Given the description of an element on the screen output the (x, y) to click on. 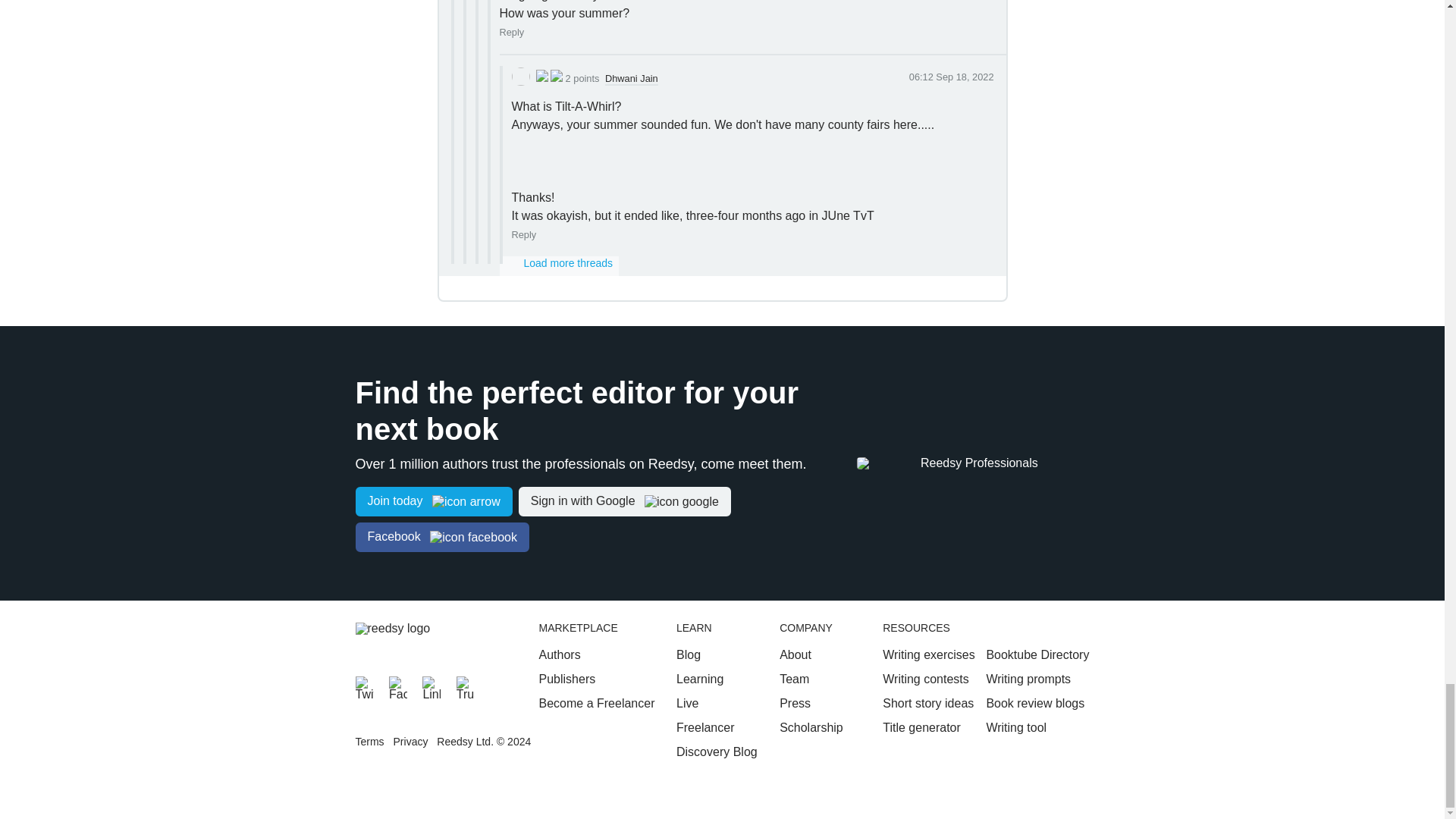
Sign up (433, 501)
Facebook (397, 685)
Twitter (363, 685)
Sign in with Facebook (441, 537)
LinkedIn (431, 685)
Sign in with Google (624, 501)
Trustpilot (465, 685)
Load more threads (558, 266)
